Given the description of an element on the screen output the (x, y) to click on. 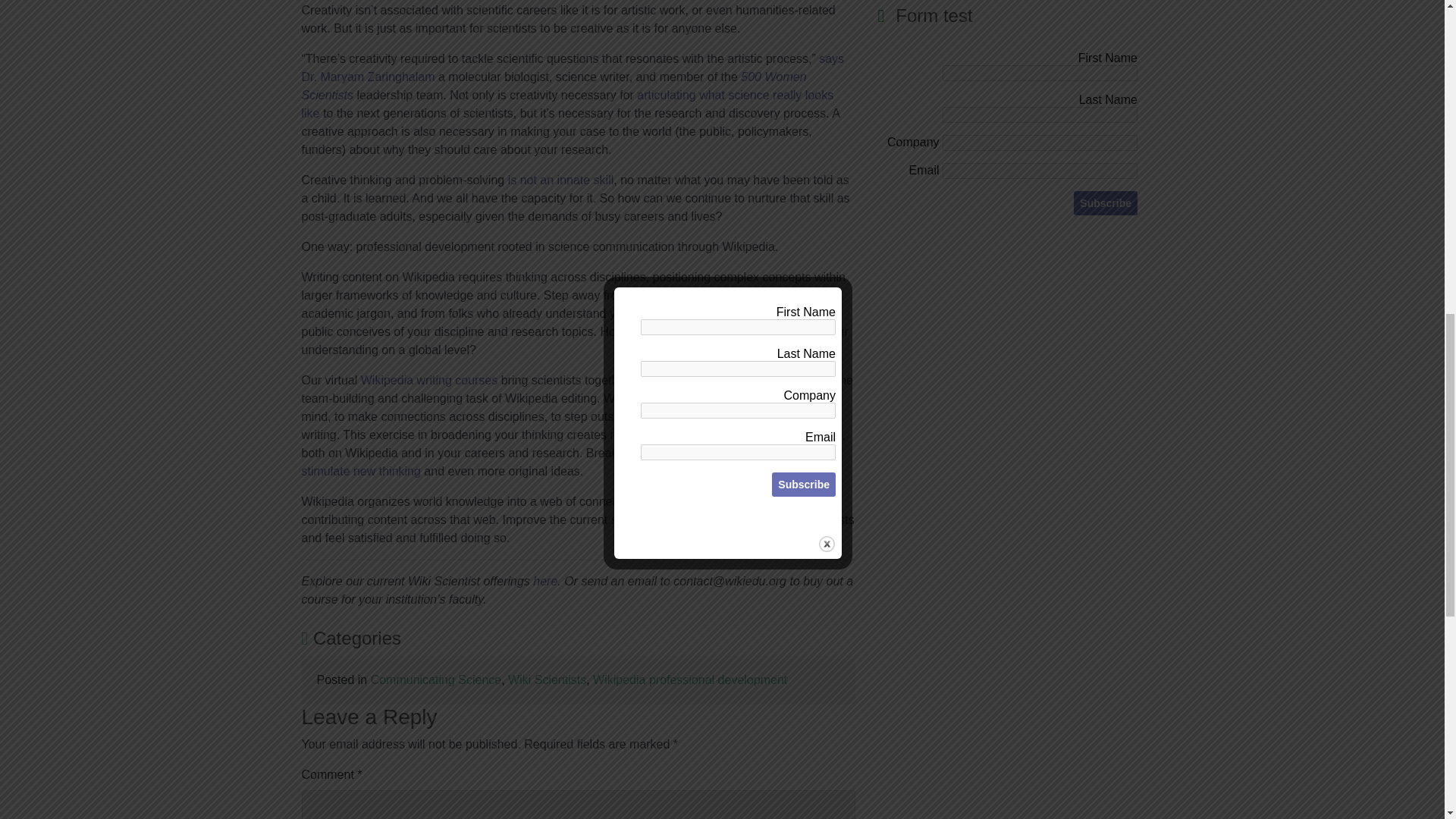
articulating what science really looks like (567, 103)
500 Women Scientists (553, 85)
Wiki Scientists (547, 679)
says Dr. Maryam Zaringhalam (572, 67)
helps stimulate new thinking (569, 461)
here (544, 581)
is not an innate skill (561, 179)
Wikipedia writing courses (429, 379)
Wikipedia professional development (689, 679)
Communicating Science (436, 679)
